Given the description of an element on the screen output the (x, y) to click on. 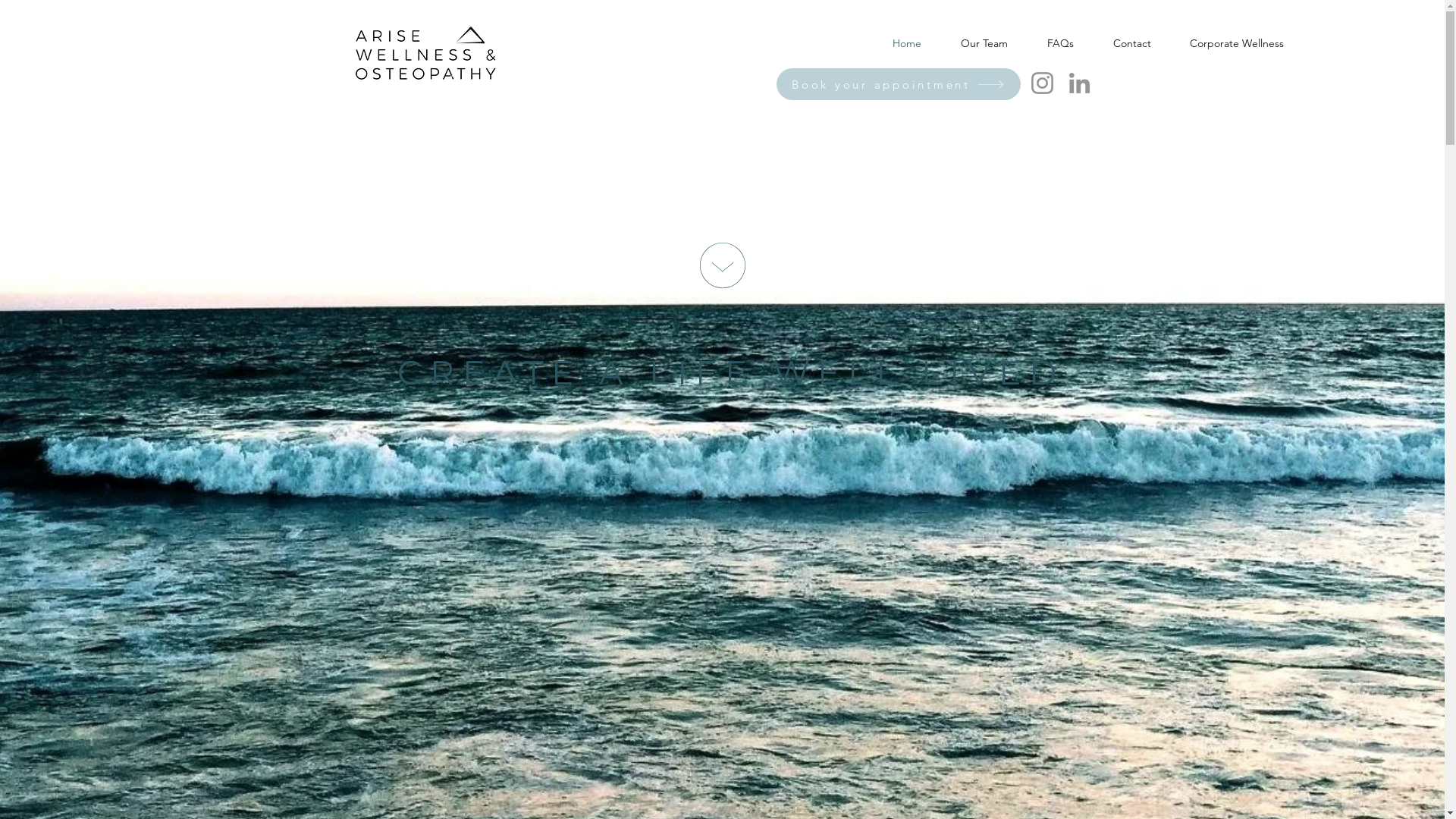
Corporate Wellness Element type: text (1236, 43)
Our Team Element type: text (984, 43)
Contact Element type: text (1131, 43)
Book your appointment Element type: text (898, 84)
FAQs Element type: text (1060, 43)
Home Element type: text (906, 43)
